Given the description of an element on the screen output the (x, y) to click on. 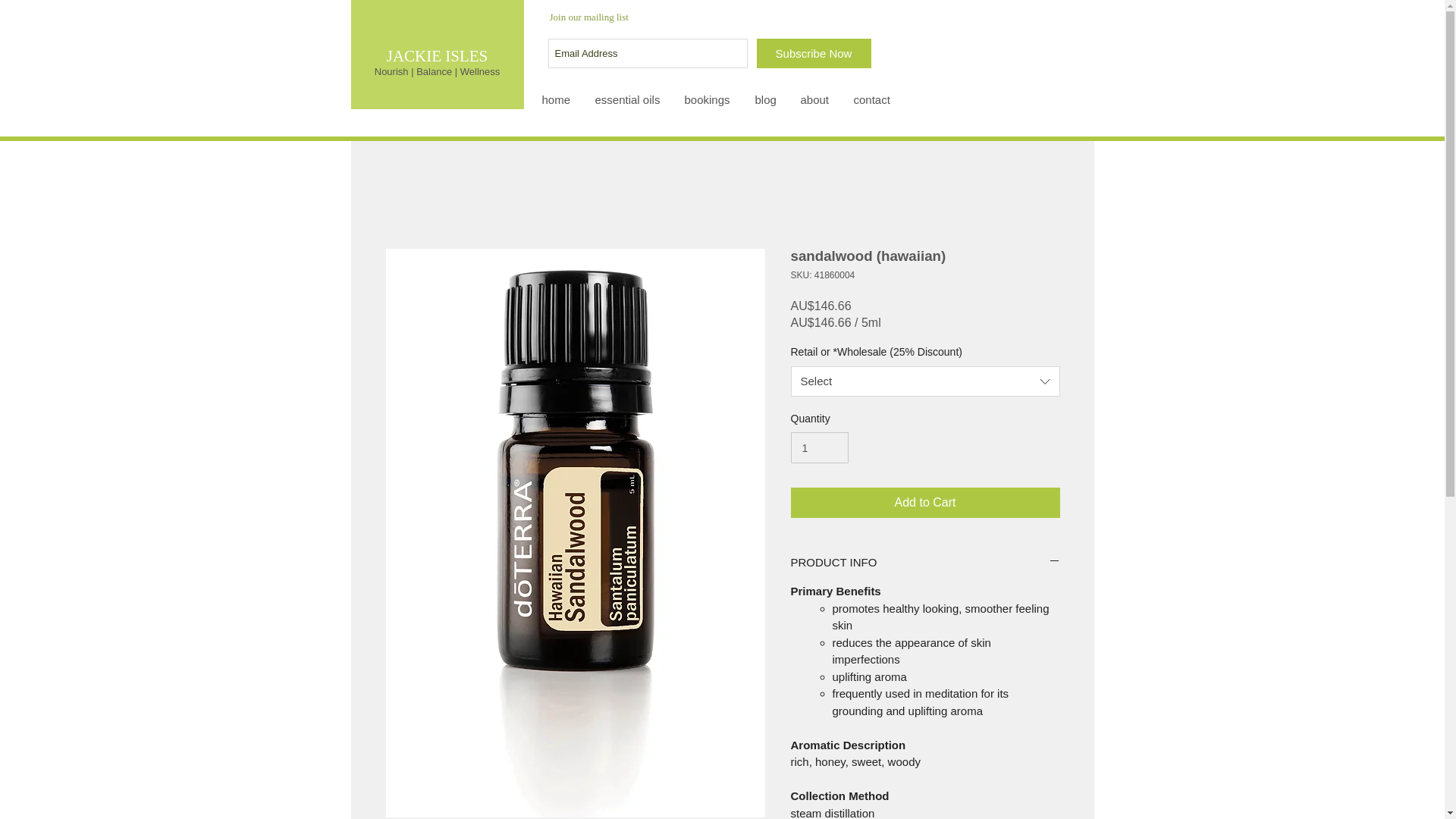
blog (765, 99)
bookings (708, 99)
Select (924, 381)
about (815, 99)
PRODUCT INFO (924, 562)
JACKIE ISLES (437, 55)
essential oils (627, 99)
contact (871, 99)
Add to Cart (924, 502)
home (557, 99)
1 (818, 447)
Subscribe Now (813, 52)
